Given the description of an element on the screen output the (x, y) to click on. 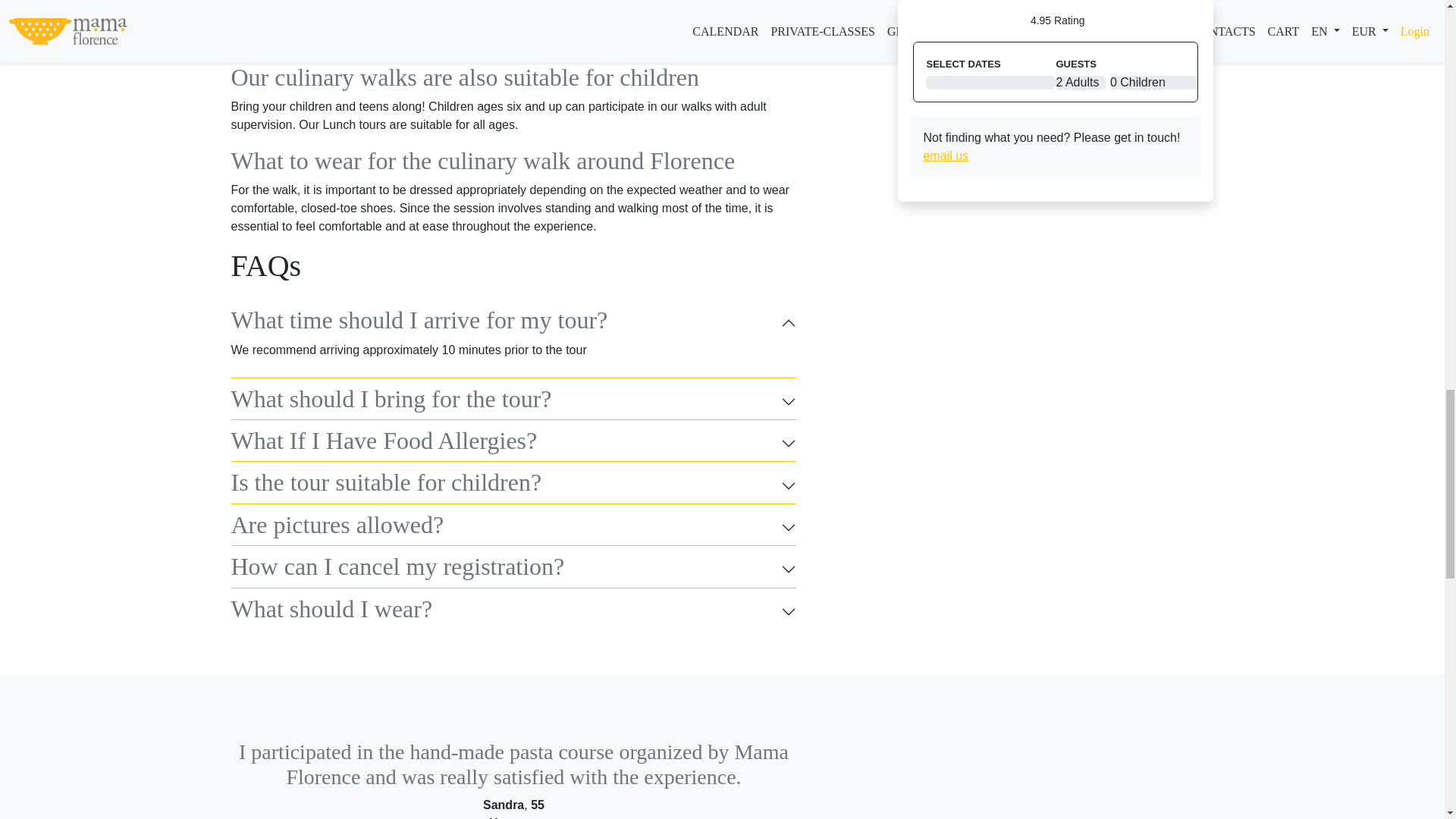
What should I wear? (513, 611)
What should I bring for the tour? (513, 401)
Is the tour suitable for children? (513, 484)
What If I Have Food Allergies? (513, 443)
Are pictures allowed? (513, 527)
What time should I arrive for my tour? (513, 322)
How can I cancel my registration? (513, 569)
